Given the description of an element on the screen output the (x, y) to click on. 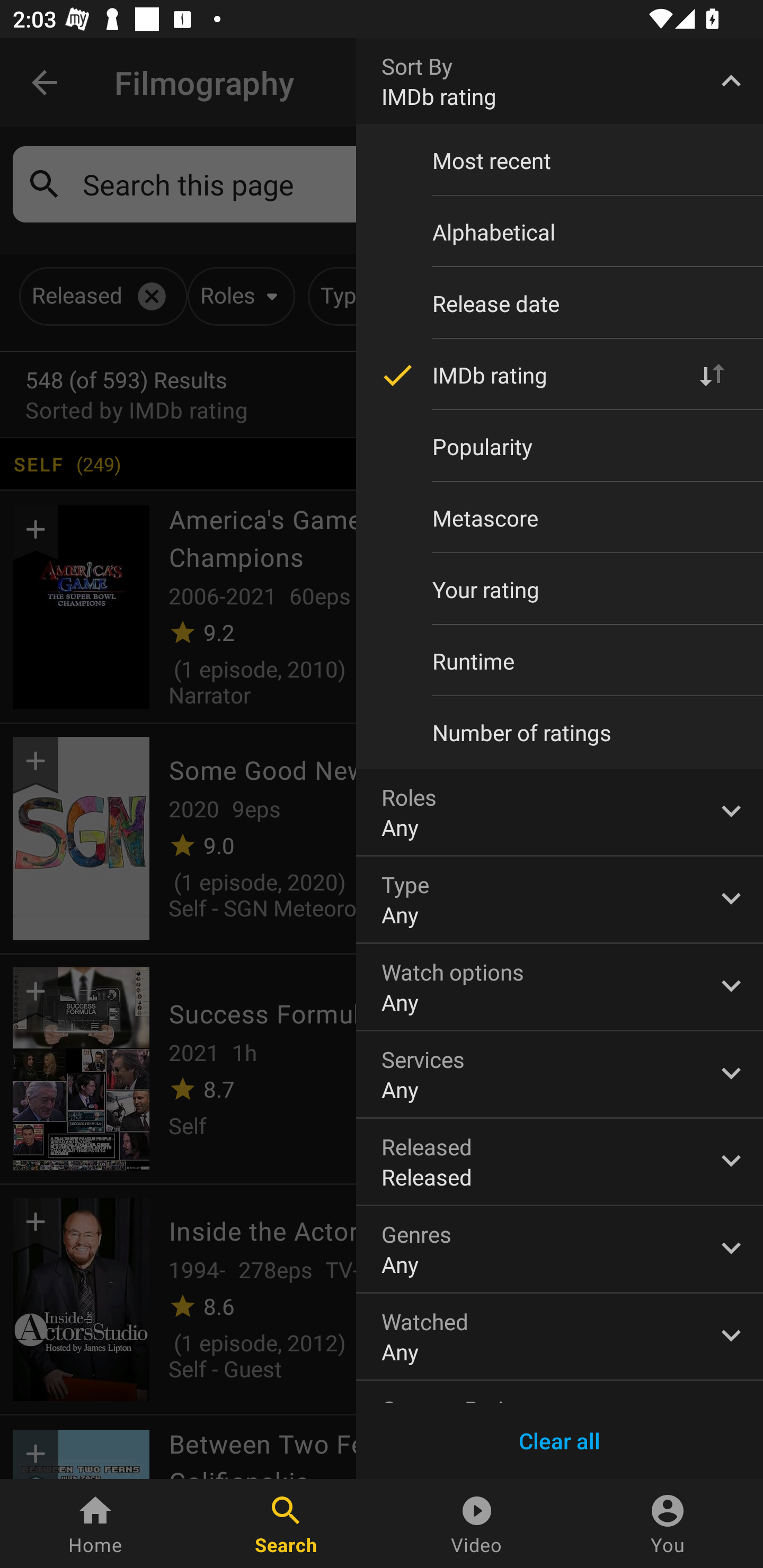
Sort By IMDb rating (559, 80)
Most recent (559, 160)
Alphabetical (559, 231)
Release date (559, 303)
IMDb rating (559, 374)
Popularity (559, 445)
Metascore (559, 517)
Your rating (559, 589)
Runtime (559, 660)
Number of ratings (559, 732)
Roles Any (559, 811)
Type Any (559, 899)
Watch options Any (559, 986)
Services Any (559, 1073)
Released (559, 1161)
Genres Any (559, 1248)
Watched Any (559, 1336)
Clear all (559, 1440)
Home (95, 1523)
Video (476, 1523)
You (667, 1523)
